Given the description of an element on the screen output the (x, y) to click on. 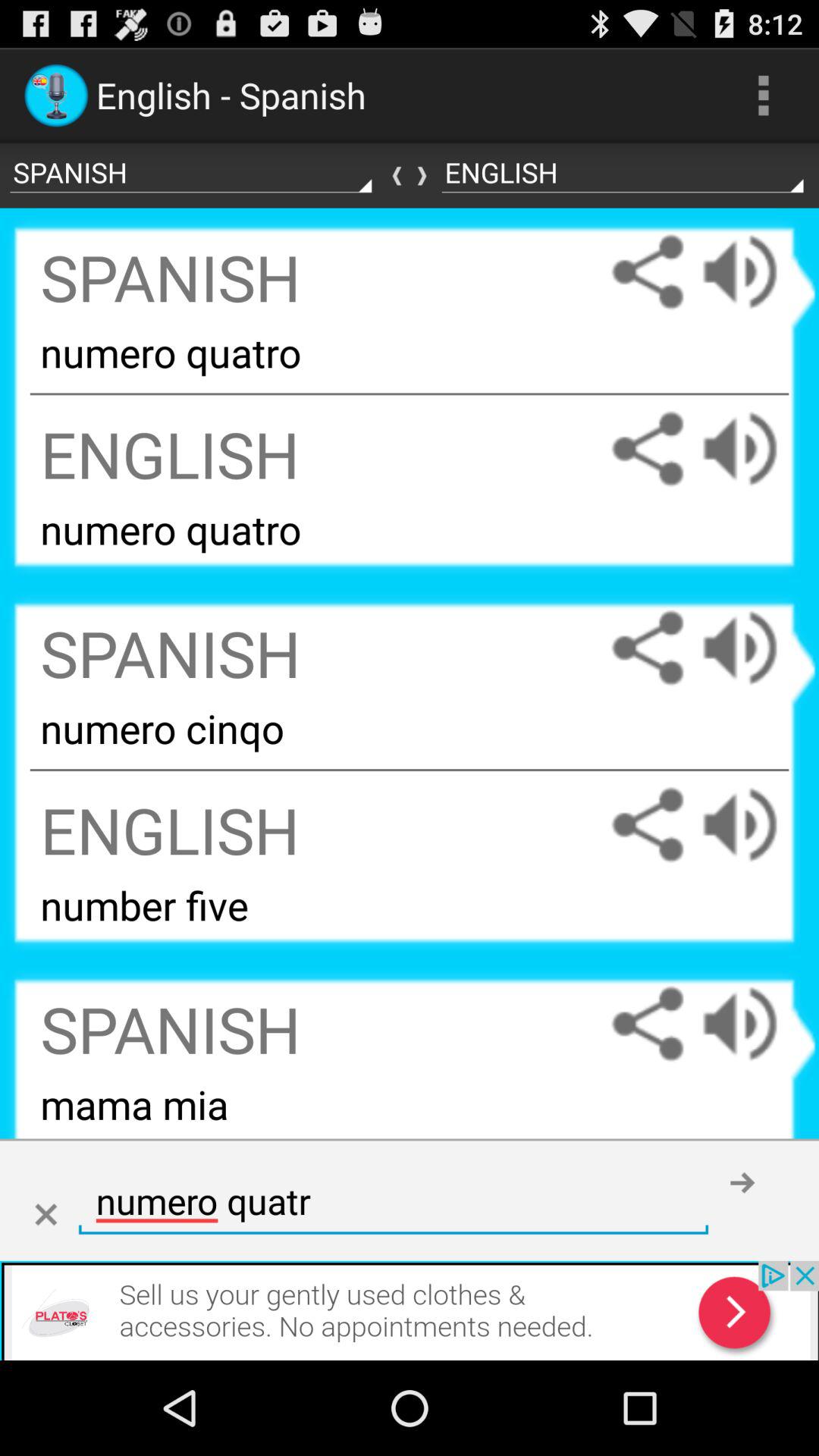
click here to share (647, 824)
